Given the description of an element on the screen output the (x, y) to click on. 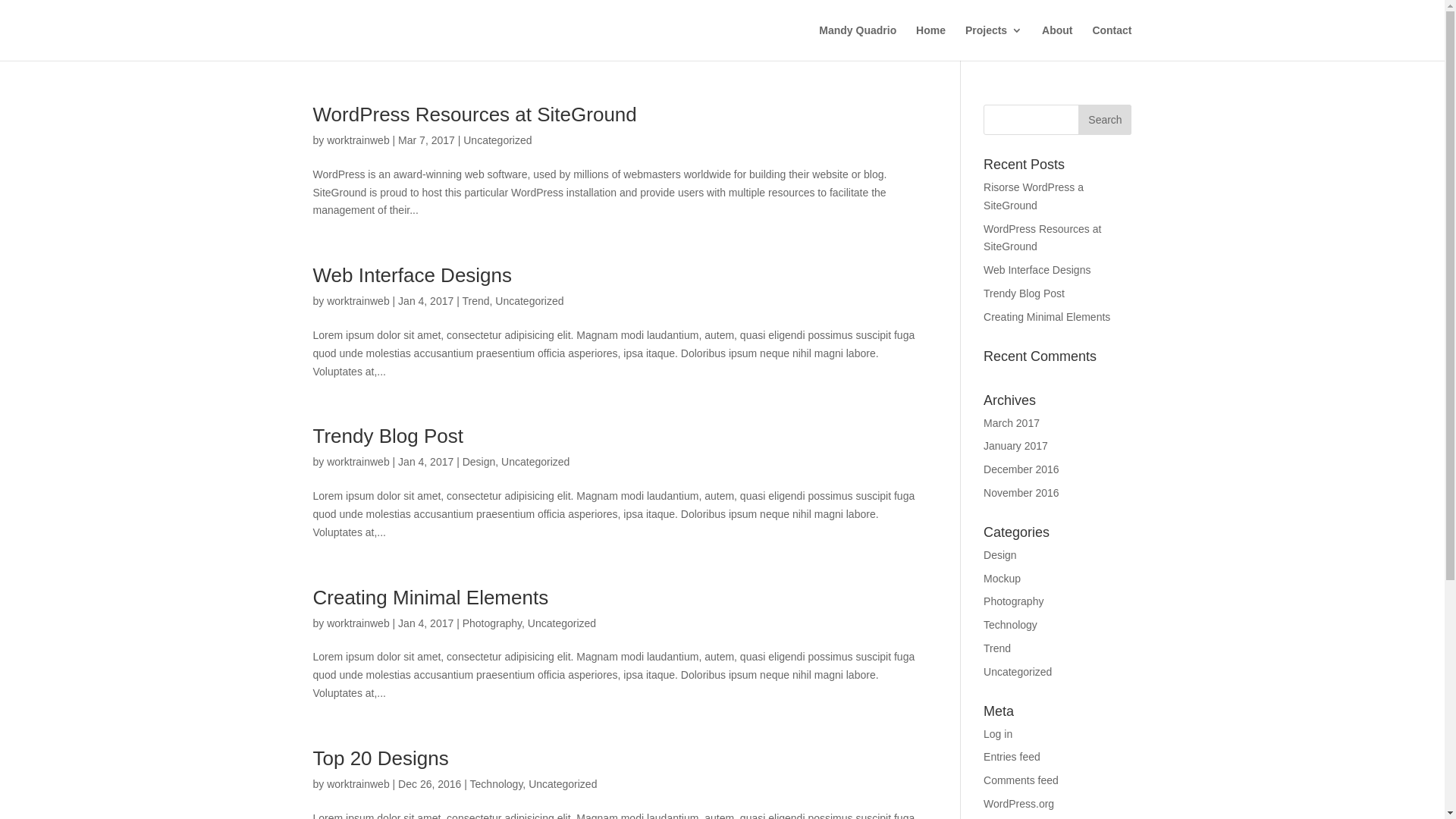
worktrainweb Element type: text (357, 140)
WordPress Resources at SiteGround Element type: text (474, 114)
About Element type: text (1056, 42)
Technology Element type: text (1010, 624)
Top 20 Designs Element type: text (380, 757)
Creating Minimal Elements Element type: text (1046, 316)
worktrainweb Element type: text (357, 461)
Uncategorized Element type: text (497, 140)
December 2016 Element type: text (1021, 469)
worktrainweb Element type: text (357, 300)
Trendy Blog Post Element type: text (1023, 293)
Uncategorized Element type: text (1017, 671)
Photography Element type: text (491, 623)
WordPress Resources at SiteGround Element type: text (1042, 237)
March 2017 Element type: text (1011, 423)
Uncategorized Element type: text (562, 784)
Design Element type: text (478, 461)
January 2017 Element type: text (1015, 445)
Comments feed Element type: text (1020, 780)
Mandy Quadrio Element type: text (857, 42)
Home Element type: text (930, 42)
Uncategorized Element type: text (529, 300)
worktrainweb Element type: text (357, 784)
Trend Element type: text (996, 648)
Mockup Element type: text (1001, 578)
WordPress.org Element type: text (1018, 803)
Uncategorized Element type: text (535, 461)
Uncategorized Element type: text (561, 623)
Search Element type: text (1104, 119)
worktrainweb Element type: text (357, 623)
Technology Element type: text (496, 784)
Design Element type: text (999, 555)
Trendy Blog Post Element type: text (387, 435)
Risorse WordPress a SiteGround Element type: text (1033, 196)
November 2016 Element type: text (1021, 492)
Log in Element type: text (997, 734)
Entries feed Element type: text (1011, 756)
Contact Element type: text (1111, 42)
Projects Element type: text (993, 42)
Photography Element type: text (1013, 601)
Web Interface Designs Element type: text (1036, 269)
Web Interface Designs Element type: text (411, 274)
Creating Minimal Elements Element type: text (430, 597)
Trend Element type: text (475, 300)
